Given the description of an element on the screen output the (x, y) to click on. 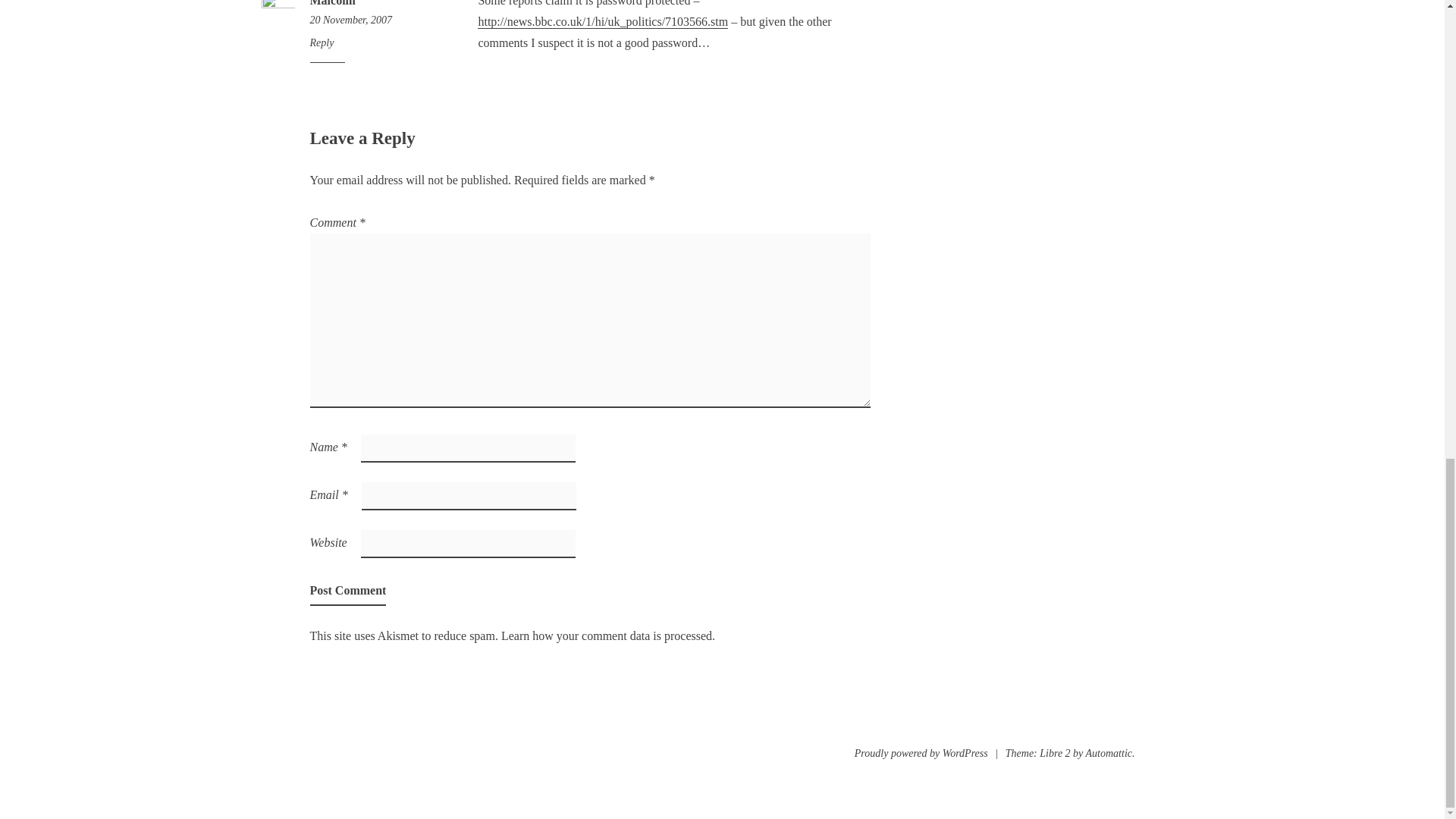
Learn how your comment data is processed (605, 635)
Reply (320, 42)
Post Comment (346, 591)
Automattic (1109, 753)
Proudly powered by WordPress (378, 20)
Malcolm (921, 753)
Post Comment (331, 3)
